Given the description of an element on the screen output the (x, y) to click on. 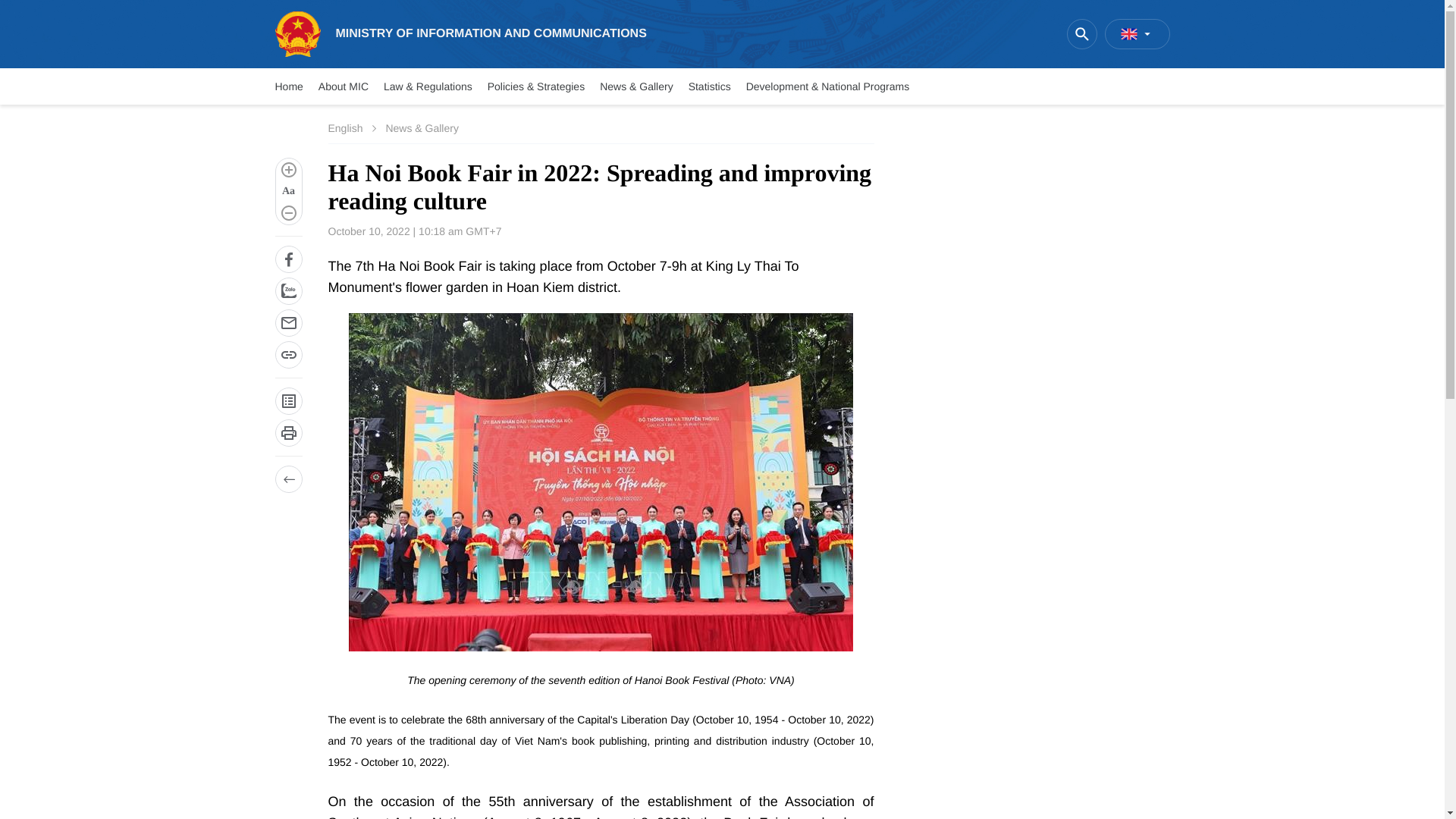
MINISTRY OF INFORMATION AND COMMUNICATIONS (460, 33)
Statistics (709, 85)
Statistics (709, 85)
About MIC (343, 85)
About MIC (343, 85)
English (344, 128)
MINISTRY OF INFORMATION AND COMMUNICATIONS (460, 33)
